Given the description of an element on the screen output the (x, y) to click on. 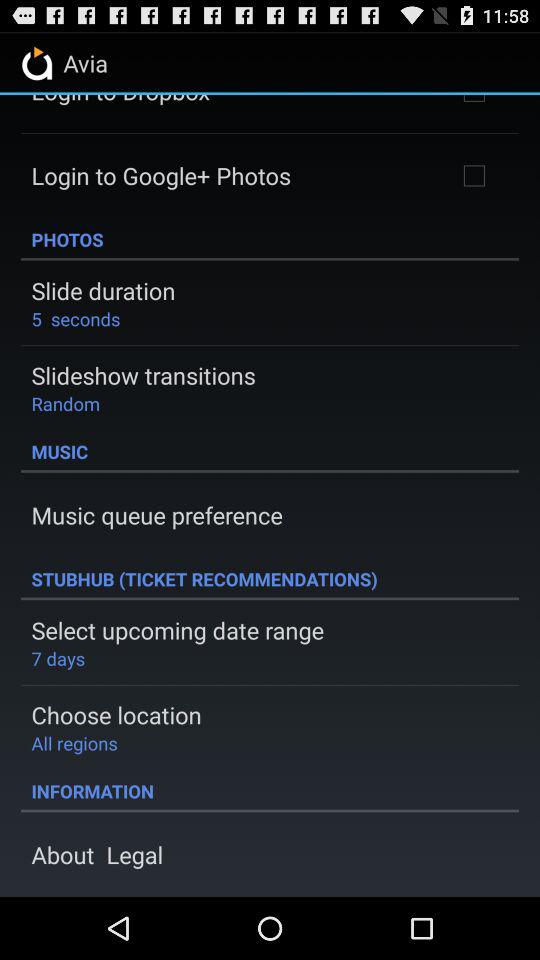
choose about  legal item (97, 854)
